Given the description of an element on the screen output the (x, y) to click on. 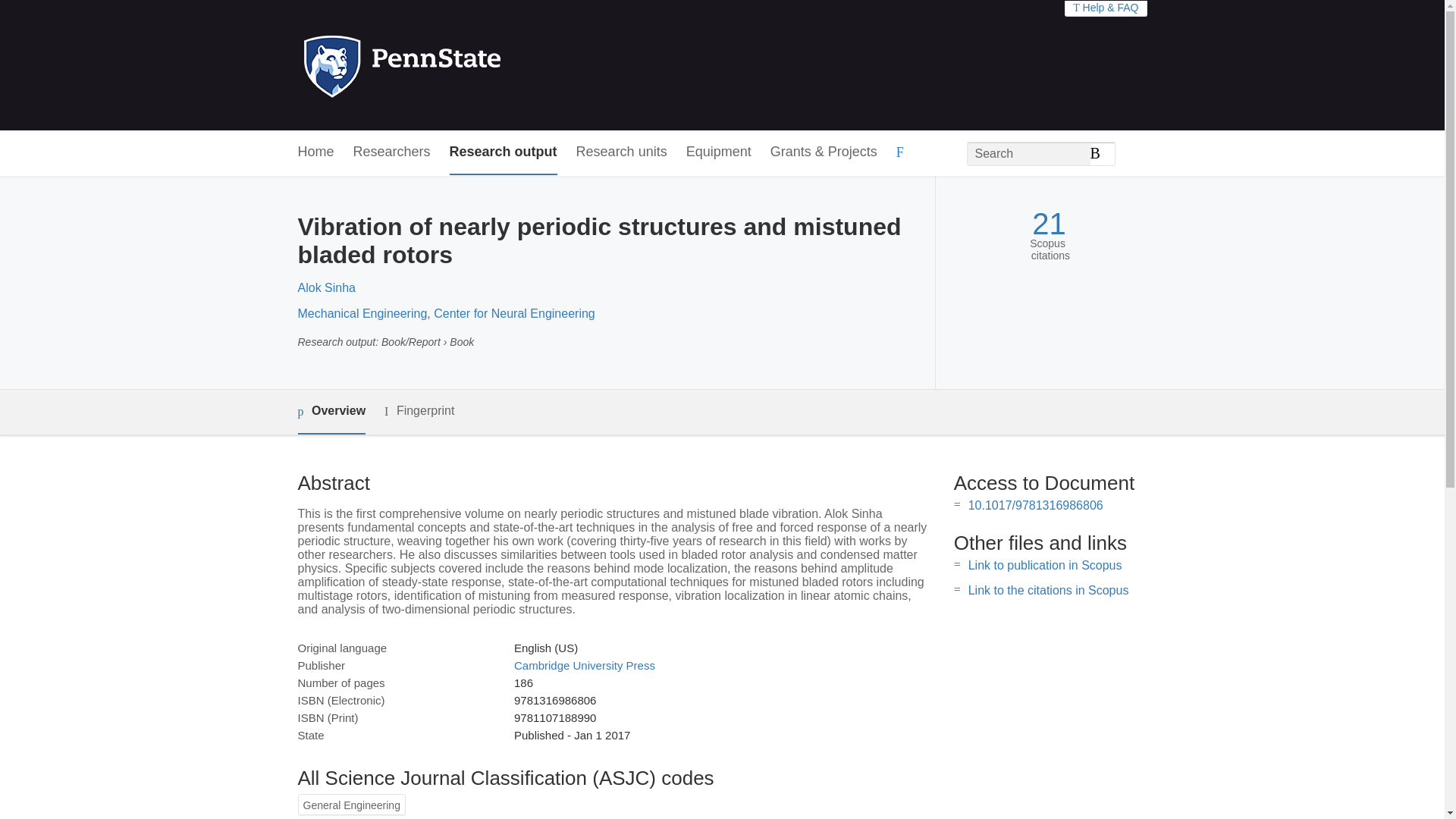
Overview (331, 411)
Alok Sinha (326, 287)
Link to publication in Scopus (1045, 564)
Equipment (718, 152)
Cambridge University Press (584, 665)
Research output (503, 152)
Mechanical Engineering (361, 313)
Researchers (391, 152)
Center for Neural Engineering (514, 313)
Research units (621, 152)
21 (1048, 223)
Fingerprint (419, 411)
Link to the citations in Scopus (1048, 590)
Penn State Home (467, 65)
